Given the description of an element on the screen output the (x, y) to click on. 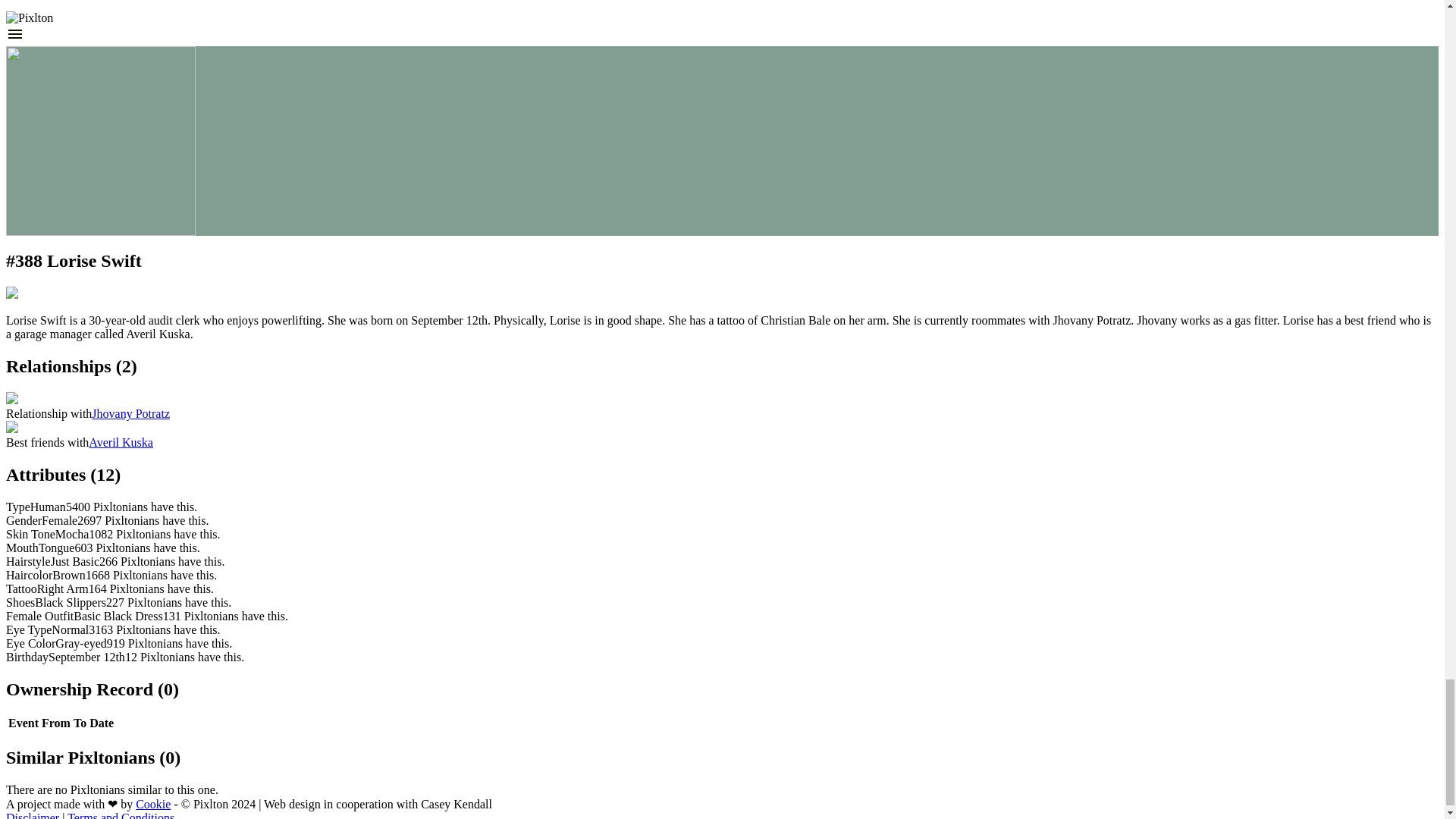
Cookie (152, 803)
Averil Kuska (120, 441)
Jhovany Potratz (130, 413)
